Given the description of an element on the screen output the (x, y) to click on. 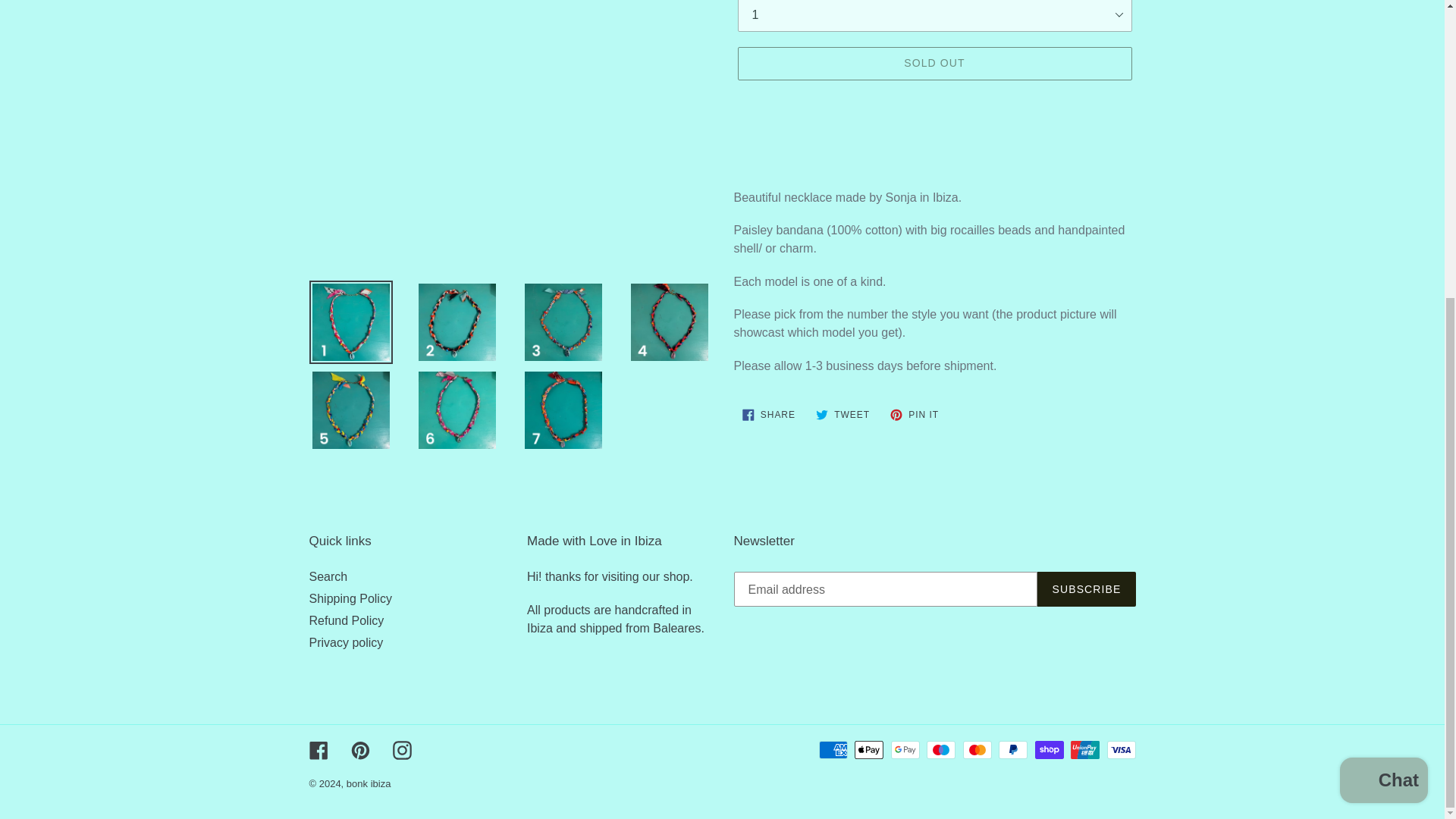
Shipping Policy (842, 414)
Search (349, 598)
Refund Policy (914, 414)
SOLD OUT (768, 414)
Shopify online store chat (327, 576)
